Given the description of an element on the screen output the (x, y) to click on. 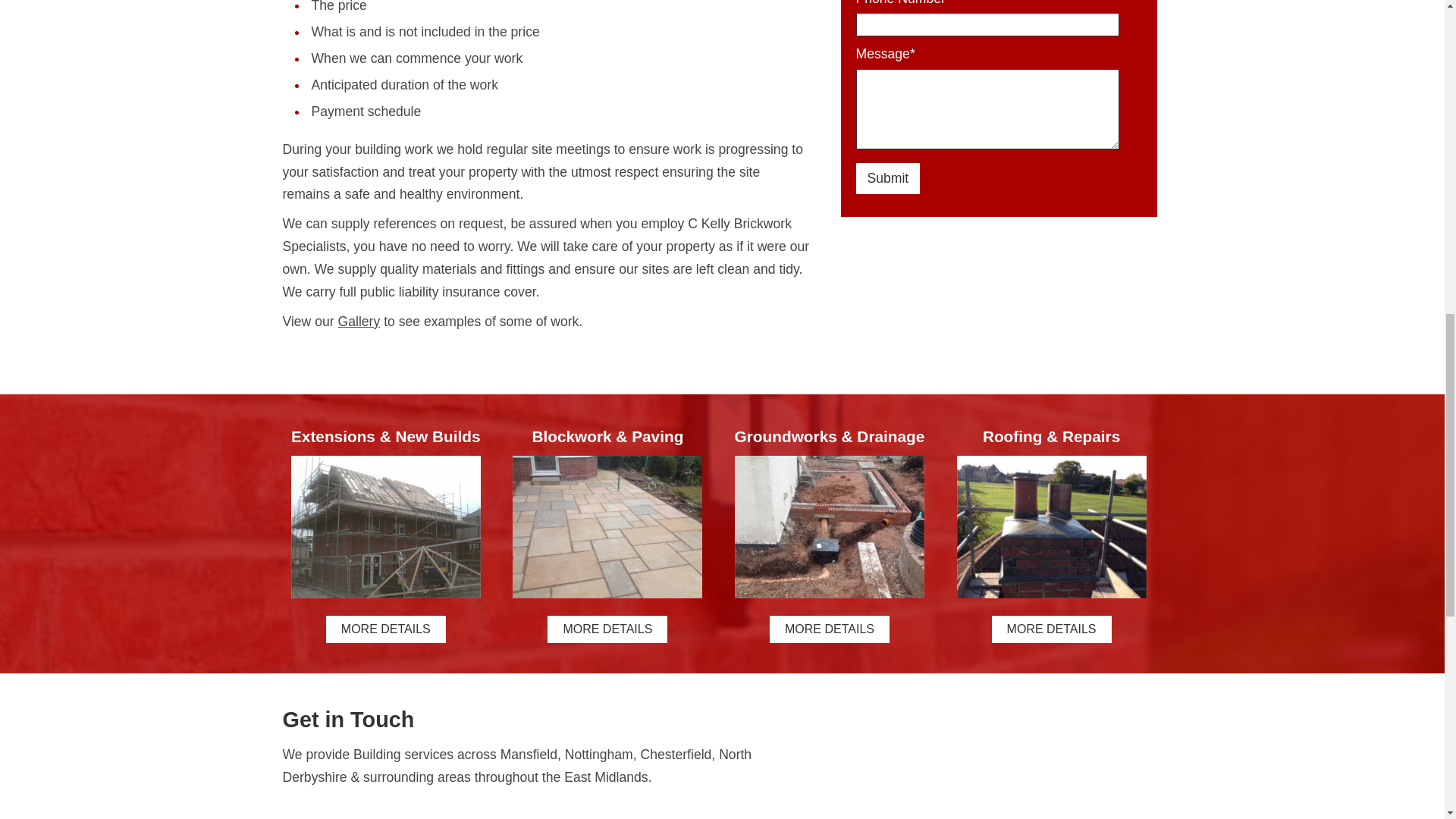
MORE DETAILS (1051, 628)
Submit (888, 178)
MORE DETAILS (606, 628)
Submit (888, 178)
Gallery (358, 321)
MORE DETAILS (829, 628)
MORE DETAILS (385, 628)
